Given the description of an element on the screen output the (x, y) to click on. 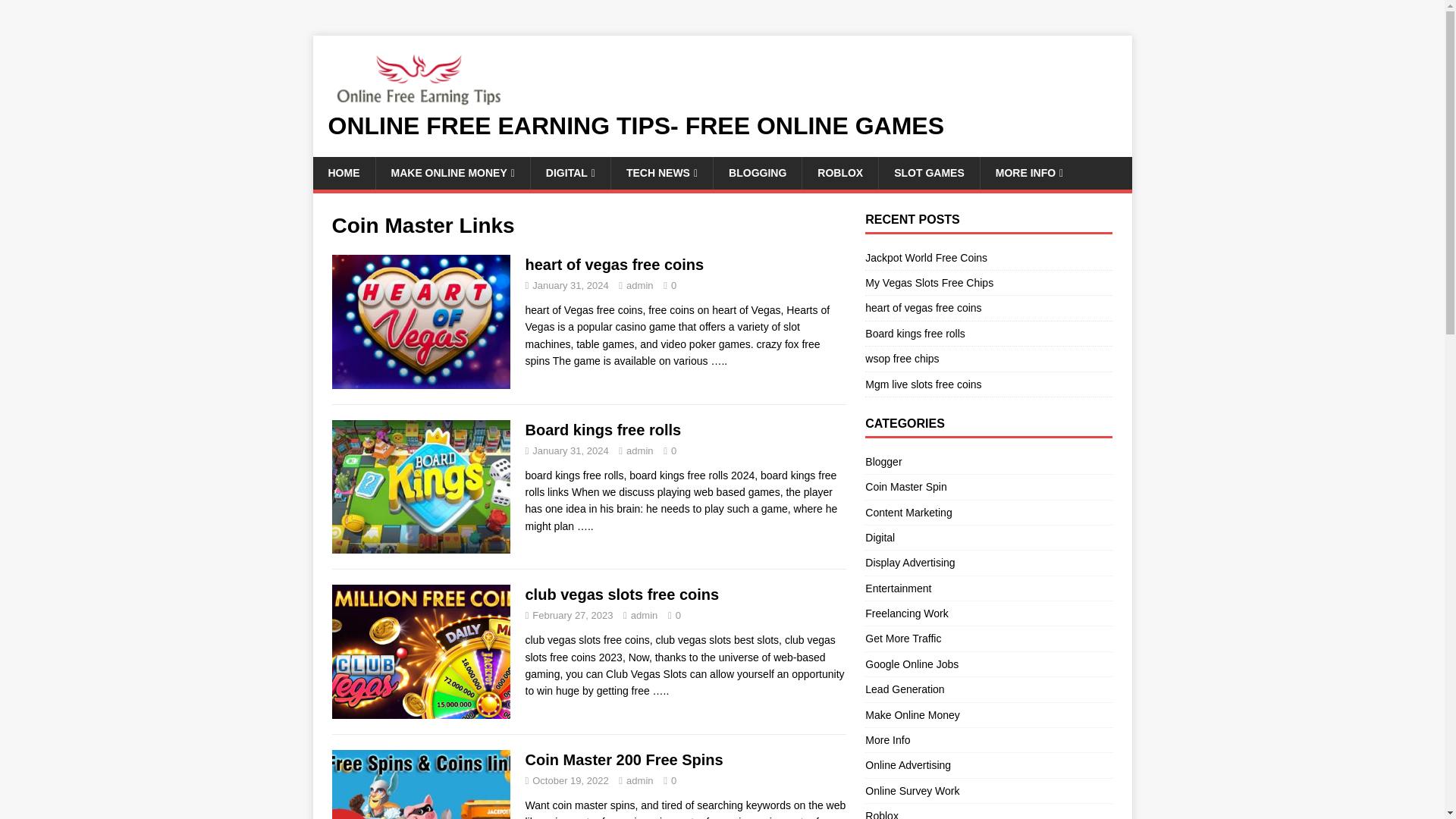
MAKE ONLINE MONEY (451, 173)
DIGITAL (569, 173)
ONLINE FREE EARNING TIPS- FREE ONLINE GAMES (721, 125)
club vegas slots free coins (660, 690)
heart of vegas free coins (718, 360)
HOME (343, 173)
Online Free Earning Tips-  Free Online Games (721, 125)
Board kings free rolls (585, 526)
